Given the description of an element on the screen output the (x, y) to click on. 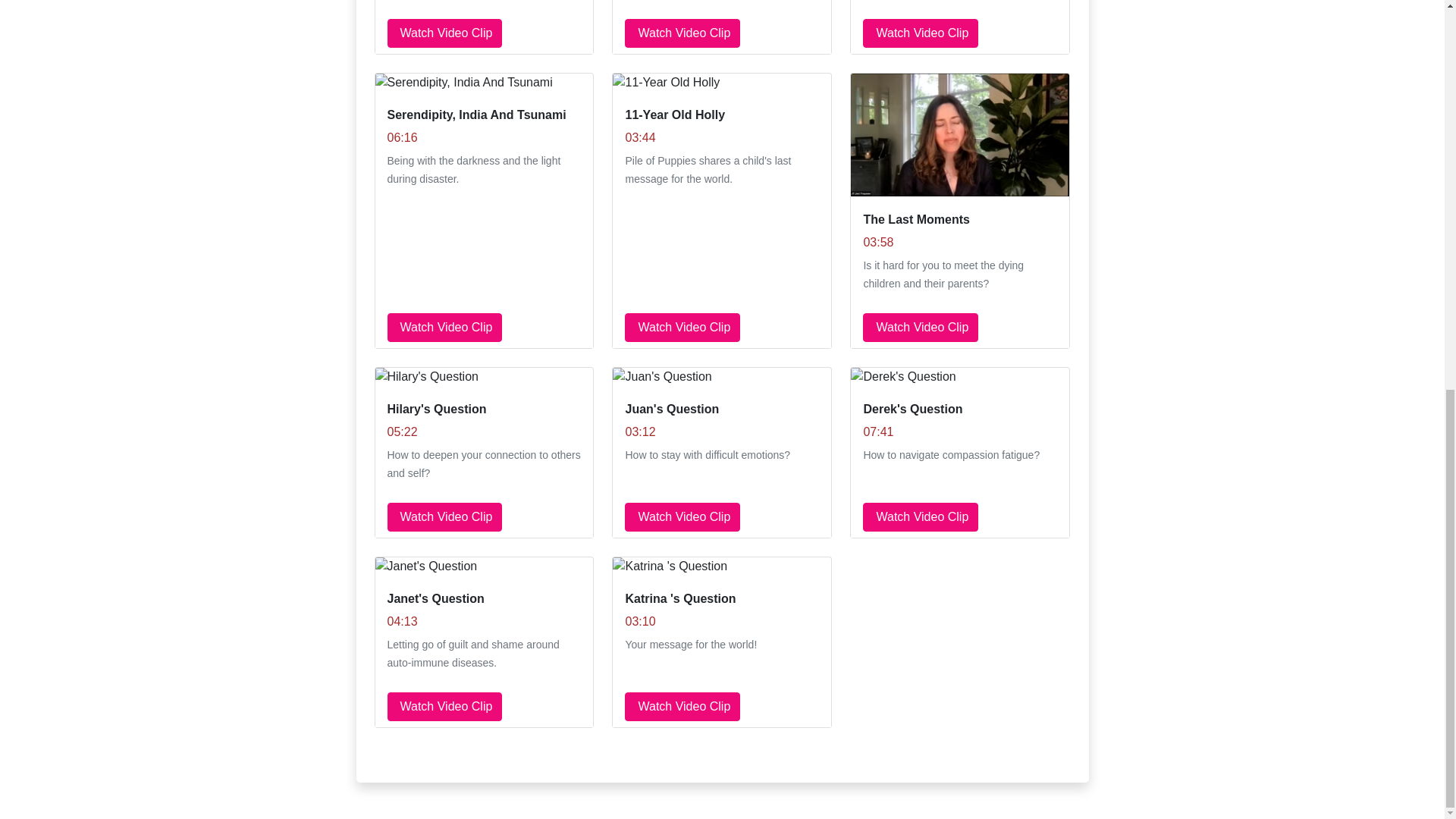
Watch Video Clip (681, 32)
Watch Video Clip (444, 32)
